Given the description of an element on the screen output the (x, y) to click on. 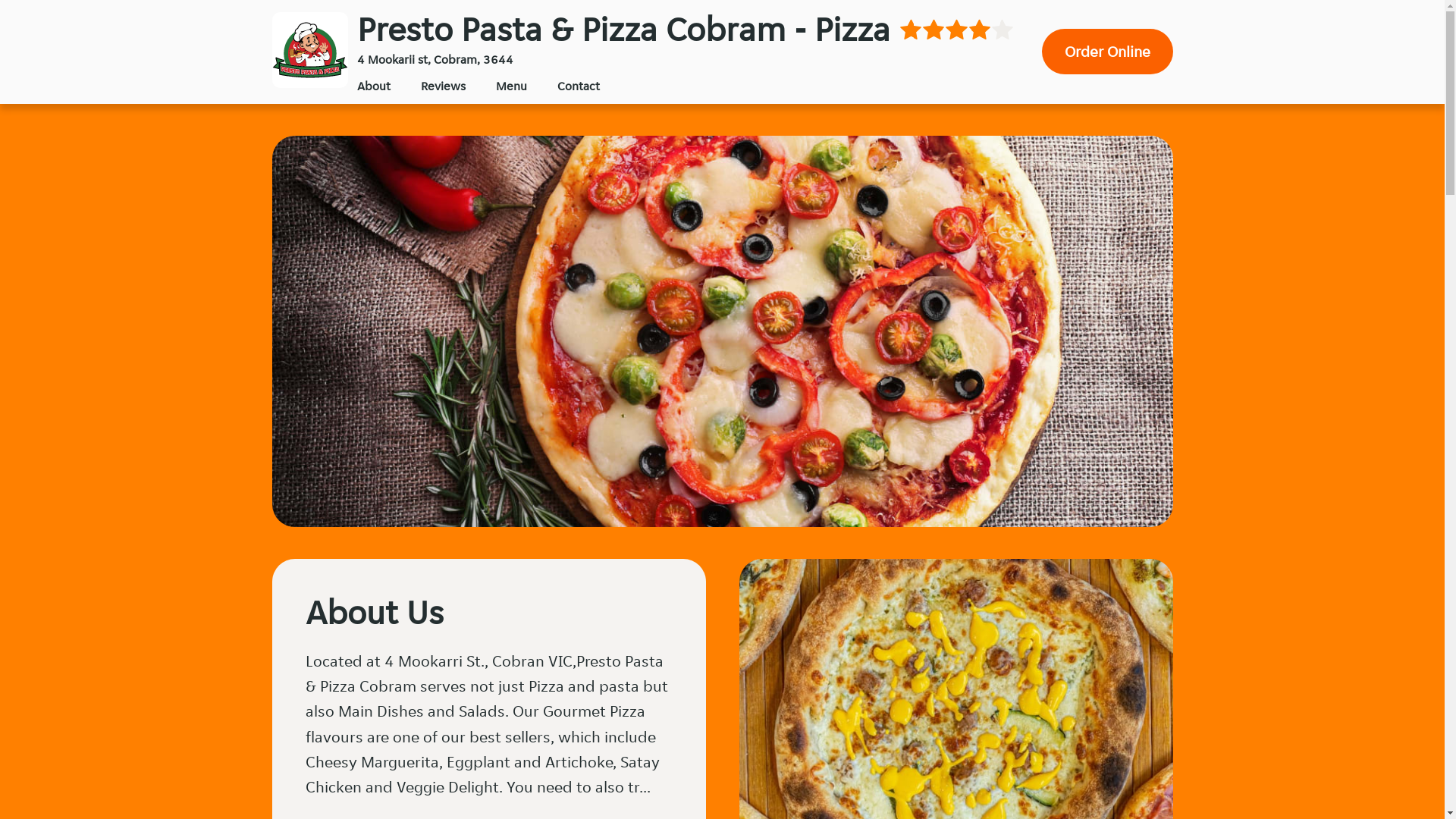
Contact Element type: text (577, 86)
Reviews Element type: text (442, 86)
Menu Element type: text (511, 86)
Order Online Element type: text (1107, 51)
Presto Pasta & Pizza Cobram Element type: hover (309, 49)
About Element type: text (372, 86)
